Given the description of an element on the screen output the (x, y) to click on. 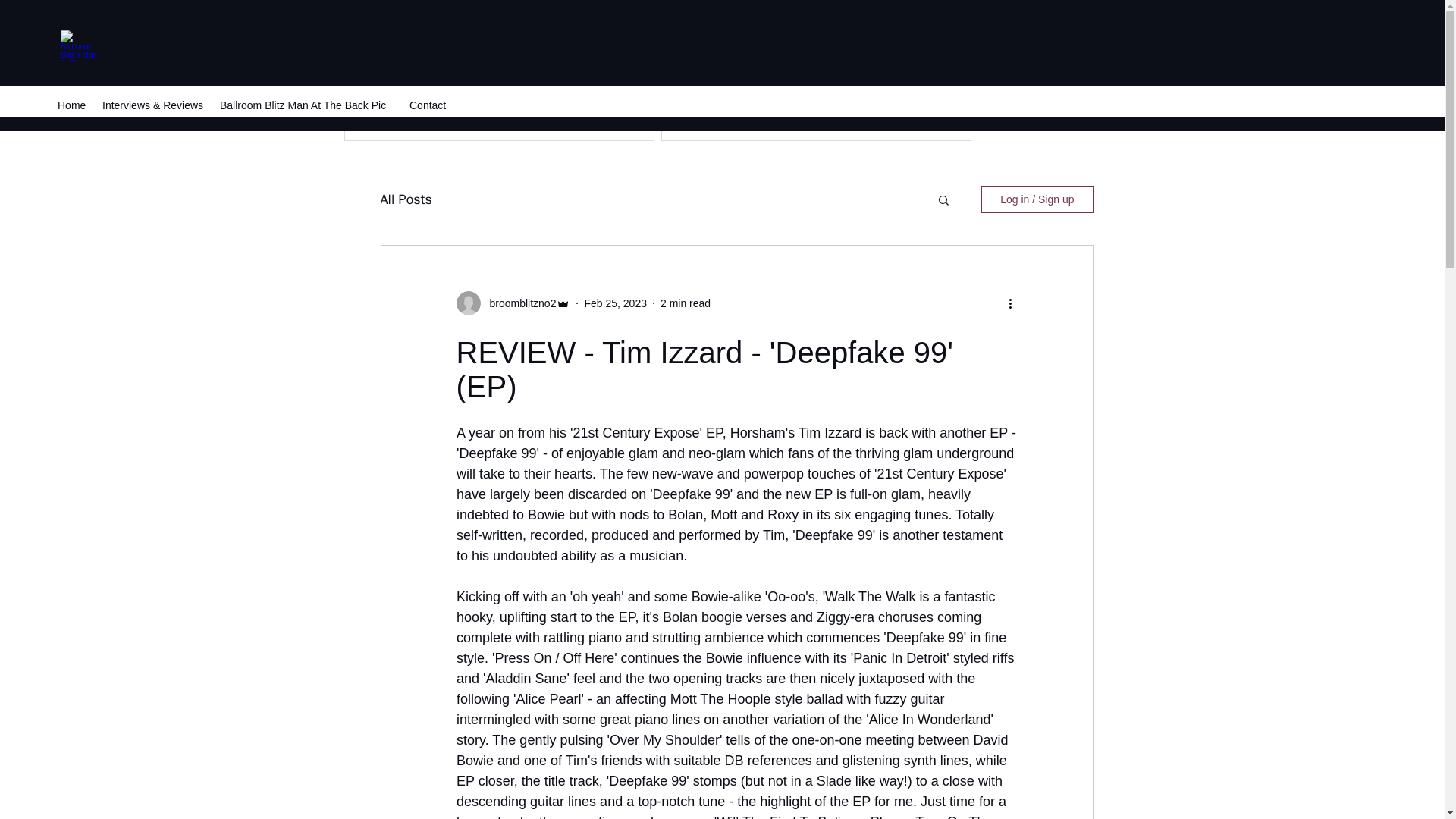
broomblitzno2 (518, 303)
Home (71, 105)
All Posts (406, 199)
2 min read (685, 303)
Submit (1016, 126)
Ballroom Blitz Man At The Back Pic (306, 105)
Feb 25, 2023 (614, 303)
Contact (429, 105)
